Given the description of an element on the screen output the (x, y) to click on. 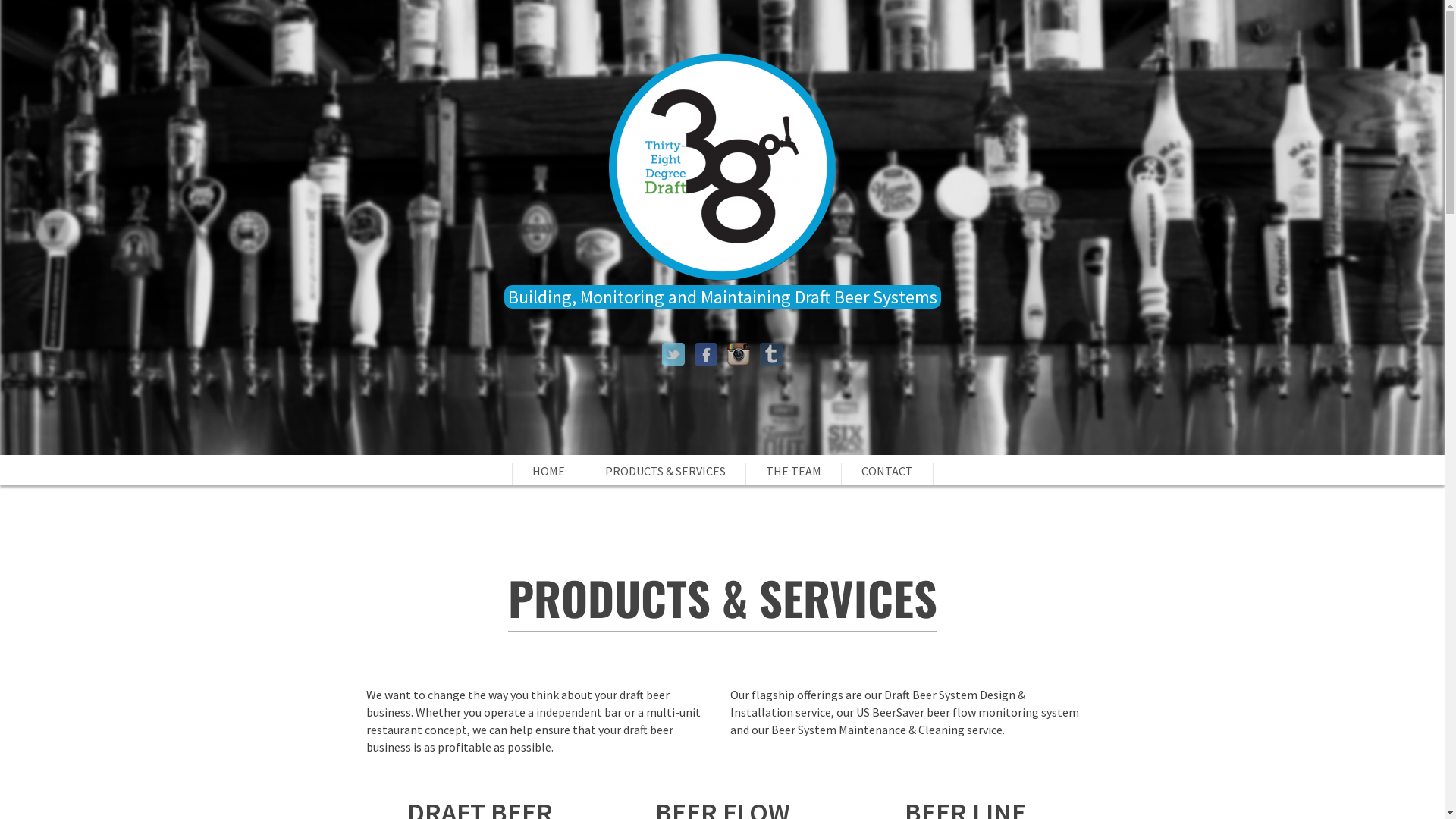
CONTACT Element type: text (886, 473)
THE TEAM Element type: text (793, 473)
PRODUCTS & SERVICES Element type: text (665, 473)
HOME Element type: text (548, 473)
